Given the description of an element on the screen output the (x, y) to click on. 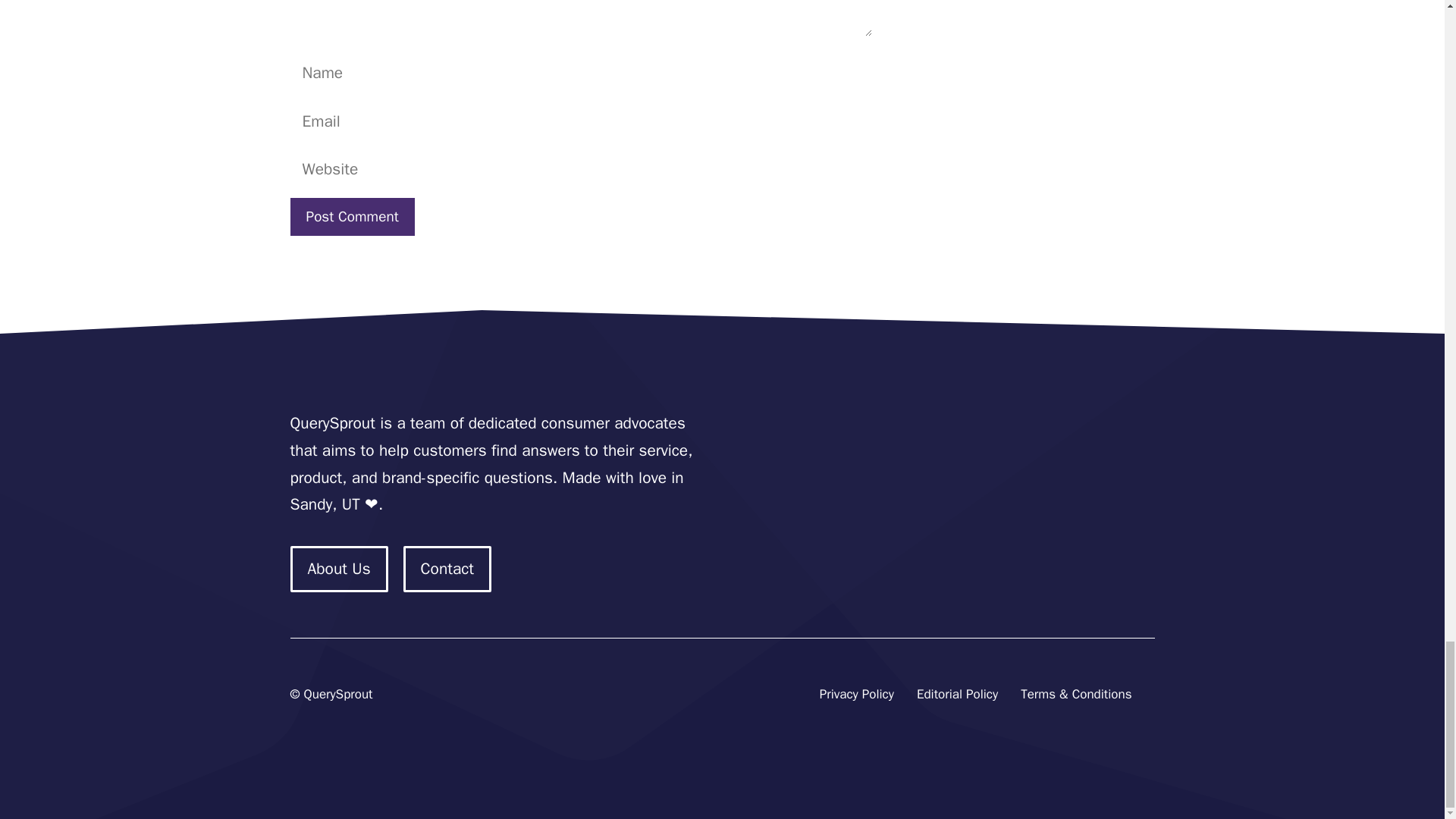
Post Comment (351, 217)
About Us (338, 569)
Post Comment (351, 217)
Privacy Policy (856, 694)
Contact (447, 569)
Editorial Policy (957, 694)
